Given the description of an element on the screen output the (x, y) to click on. 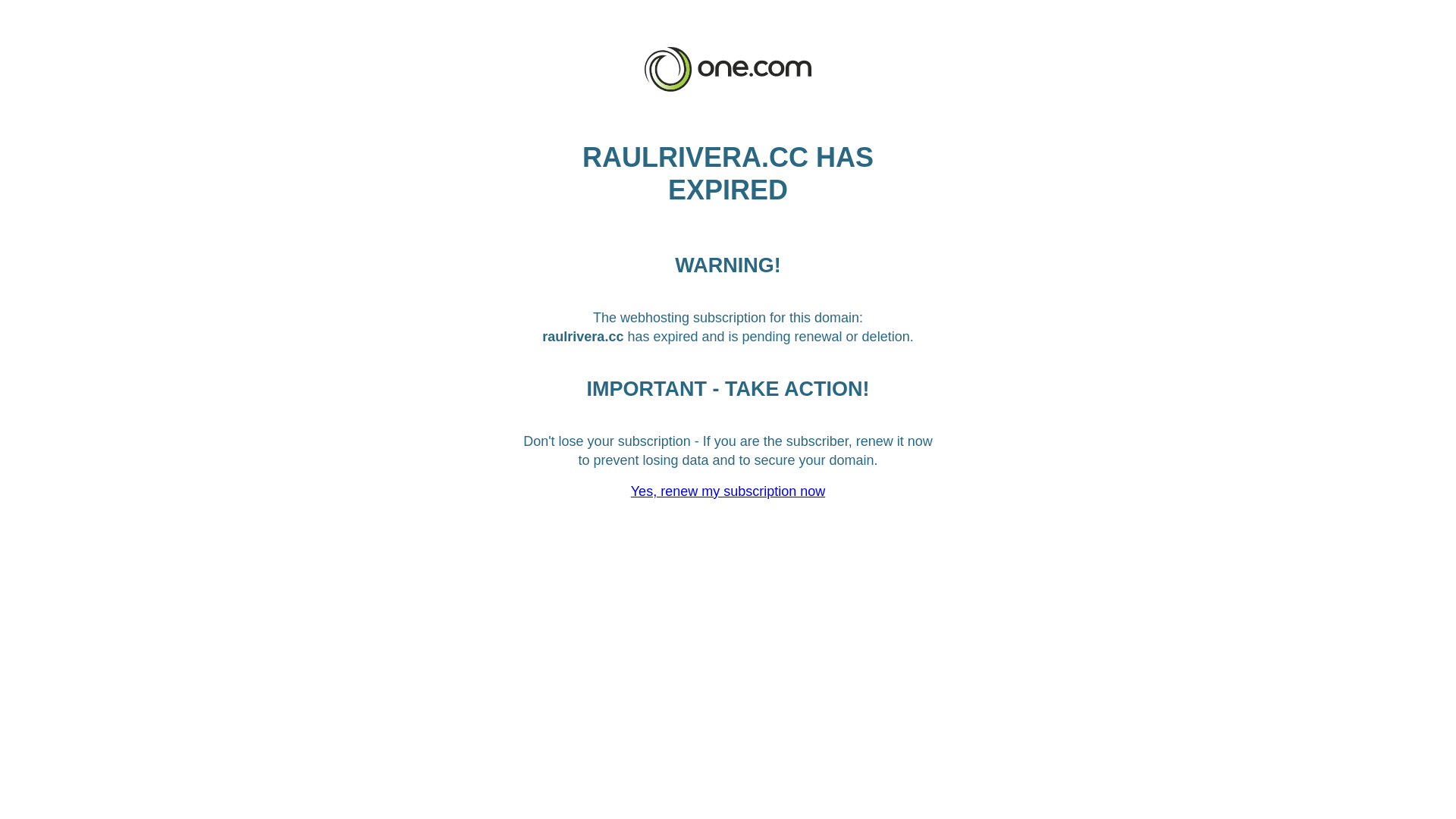
Yes, renew my subscription now Element type: text (727, 490)
